Given the description of an element on the screen output the (x, y) to click on. 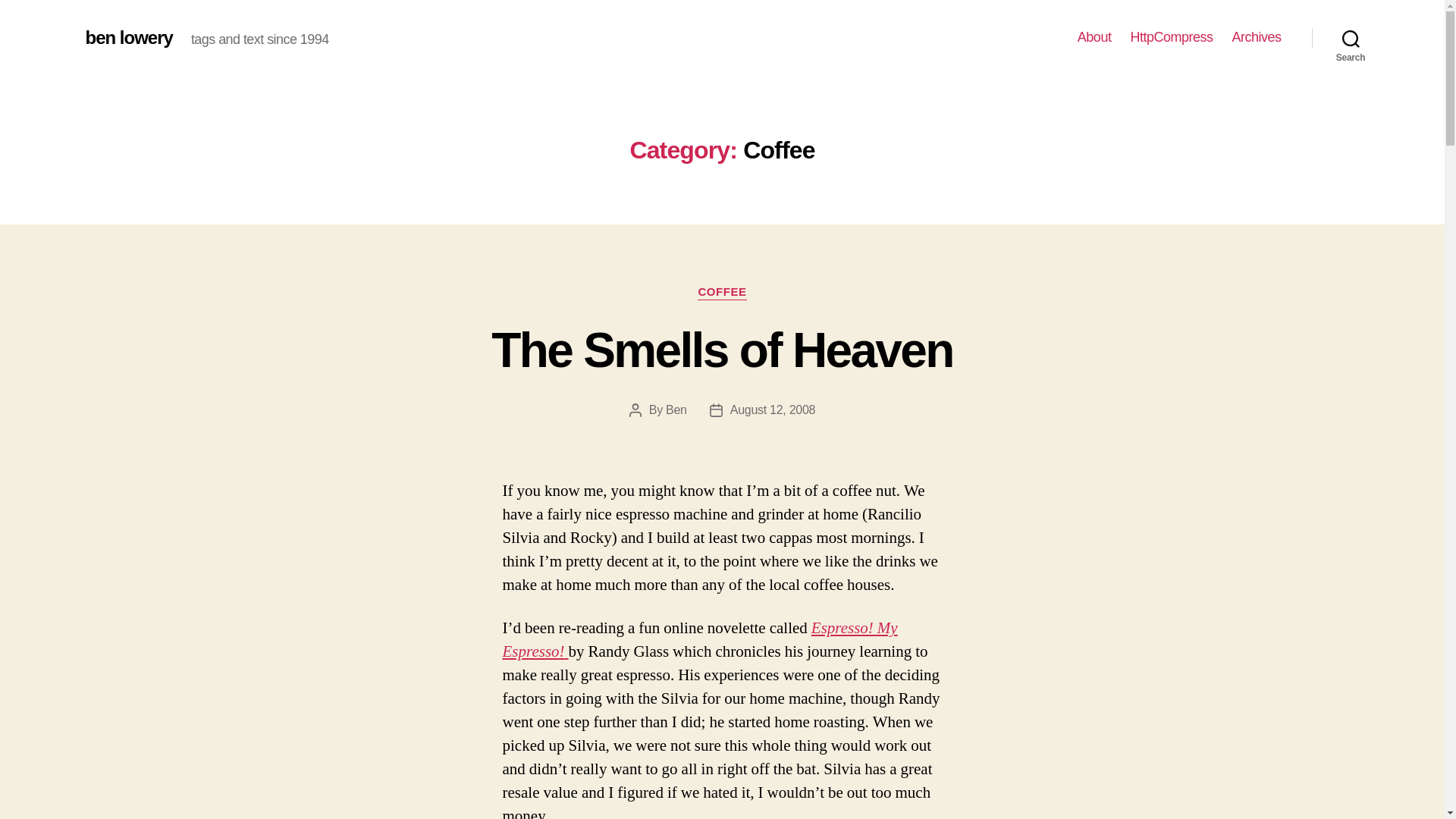
The Smells of Heaven (722, 349)
Archives (1256, 37)
August 12, 2008 (772, 409)
HttpCompress (1170, 37)
COFFEE (721, 292)
Ben (676, 409)
Espresso! My Espresso! (699, 639)
Search (1350, 37)
About (1094, 37)
ben lowery (127, 37)
